Given the description of an element on the screen output the (x, y) to click on. 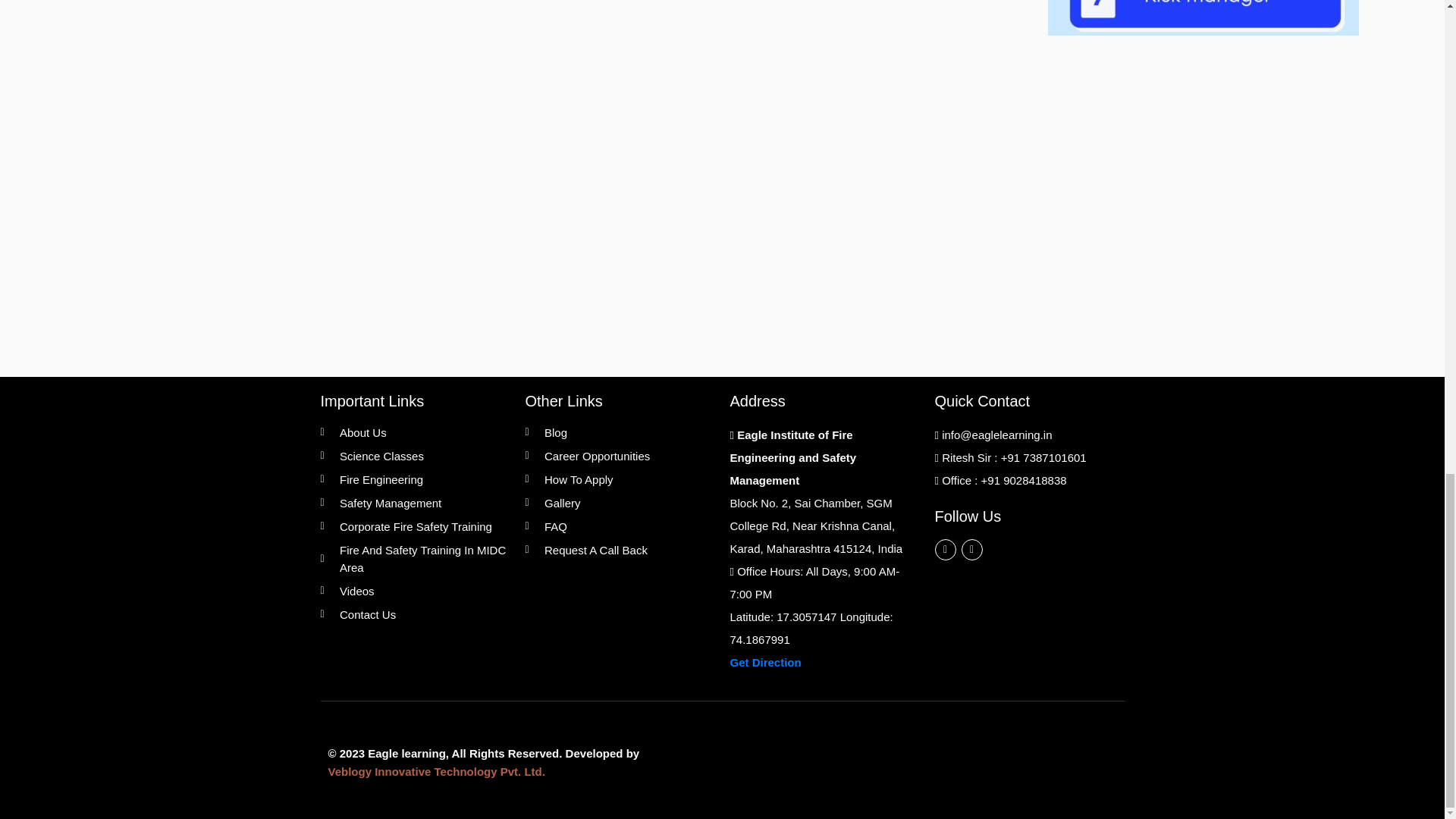
Safety Management (414, 502)
How To Apply (619, 479)
Corporate Fire Safety Training (414, 526)
About Us (414, 432)
Fire Engineering (414, 479)
Fire And Safety Training In MIDC Area (414, 558)
FAQ (619, 526)
Request A Call Back (619, 549)
Gallery (619, 502)
Career Opportunities (619, 456)
